Given the description of an element on the screen output the (x, y) to click on. 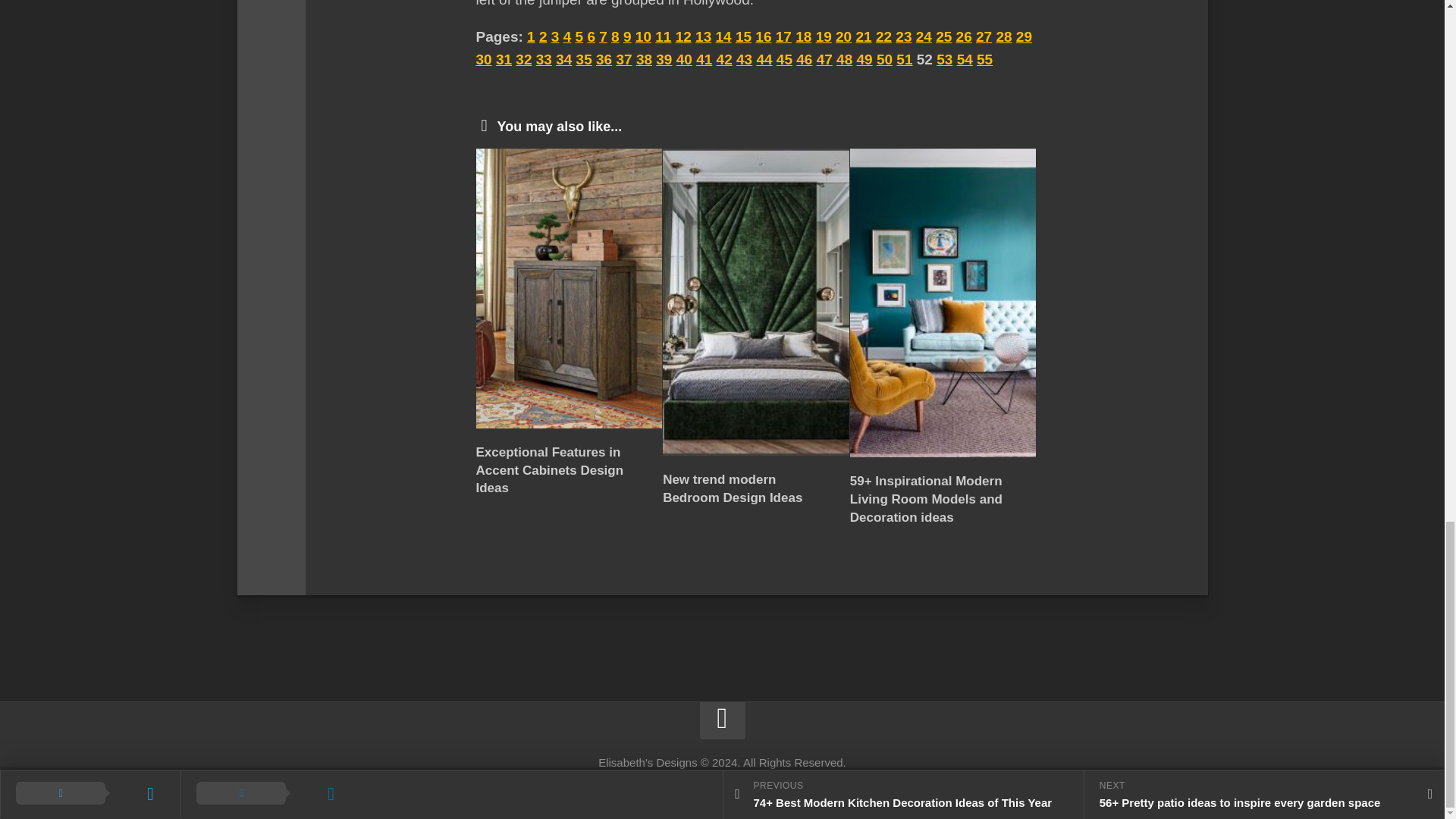
22 (883, 36)
18 (802, 36)
13 (703, 36)
15 (743, 36)
23 (903, 36)
17 (784, 36)
26 (964, 36)
10 (642, 36)
20 (843, 36)
19 (823, 36)
27 (983, 36)
25 (944, 36)
24 (923, 36)
21 (863, 36)
12 (683, 36)
